Given the description of an element on the screen output the (x, y) to click on. 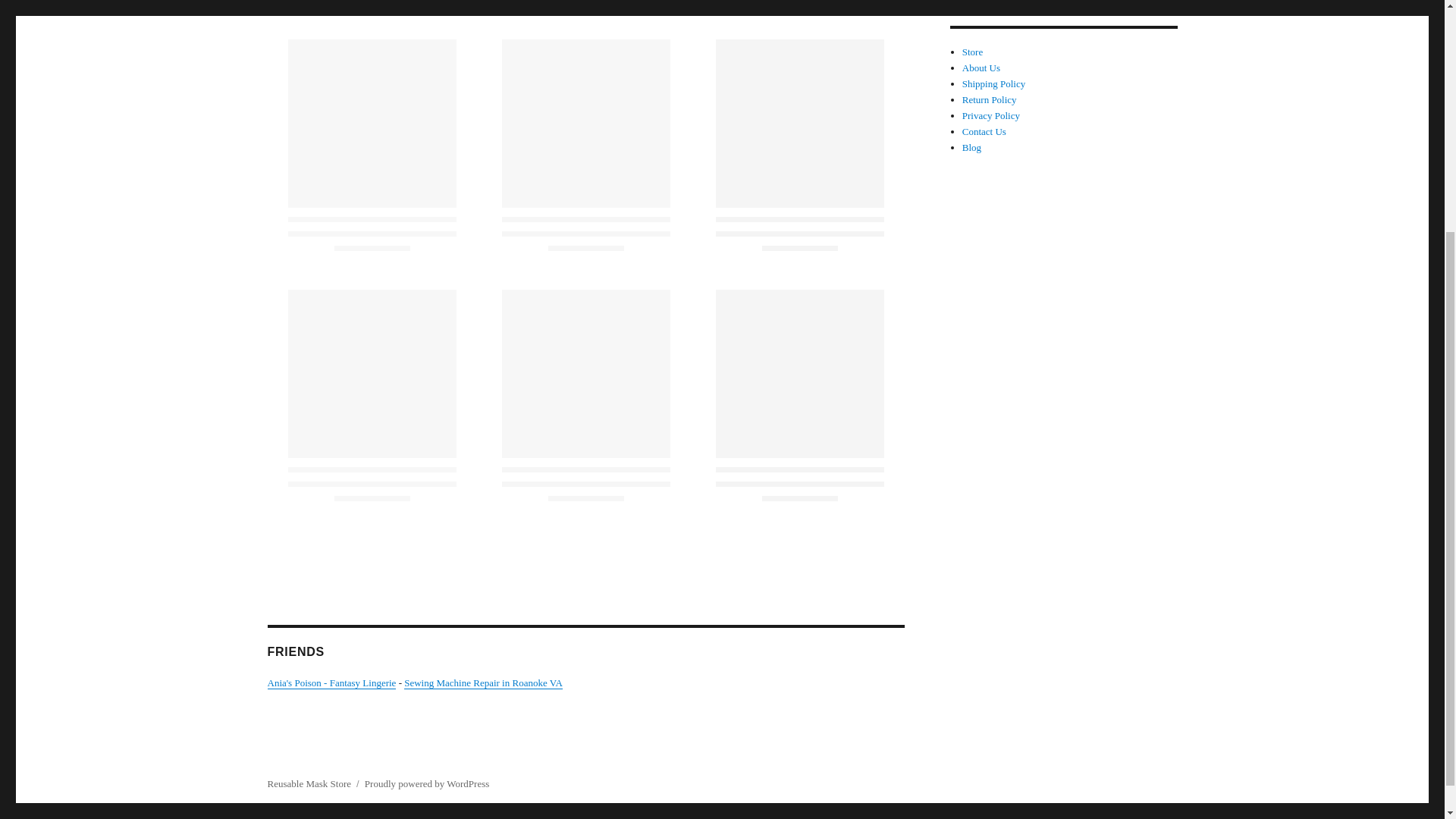
Return Policy (989, 99)
Store (972, 51)
Proudly powered by WordPress (427, 783)
Shipping Policy (993, 83)
About Us (981, 67)
Ania's Poison - Fantasy Lingerie (331, 682)
Reusable Mask Store (308, 783)
Privacy Policy (991, 115)
Sewing Machine Repair in Roanoke VA (483, 682)
Contact Us (984, 131)
